Given the description of an element on the screen output the (x, y) to click on. 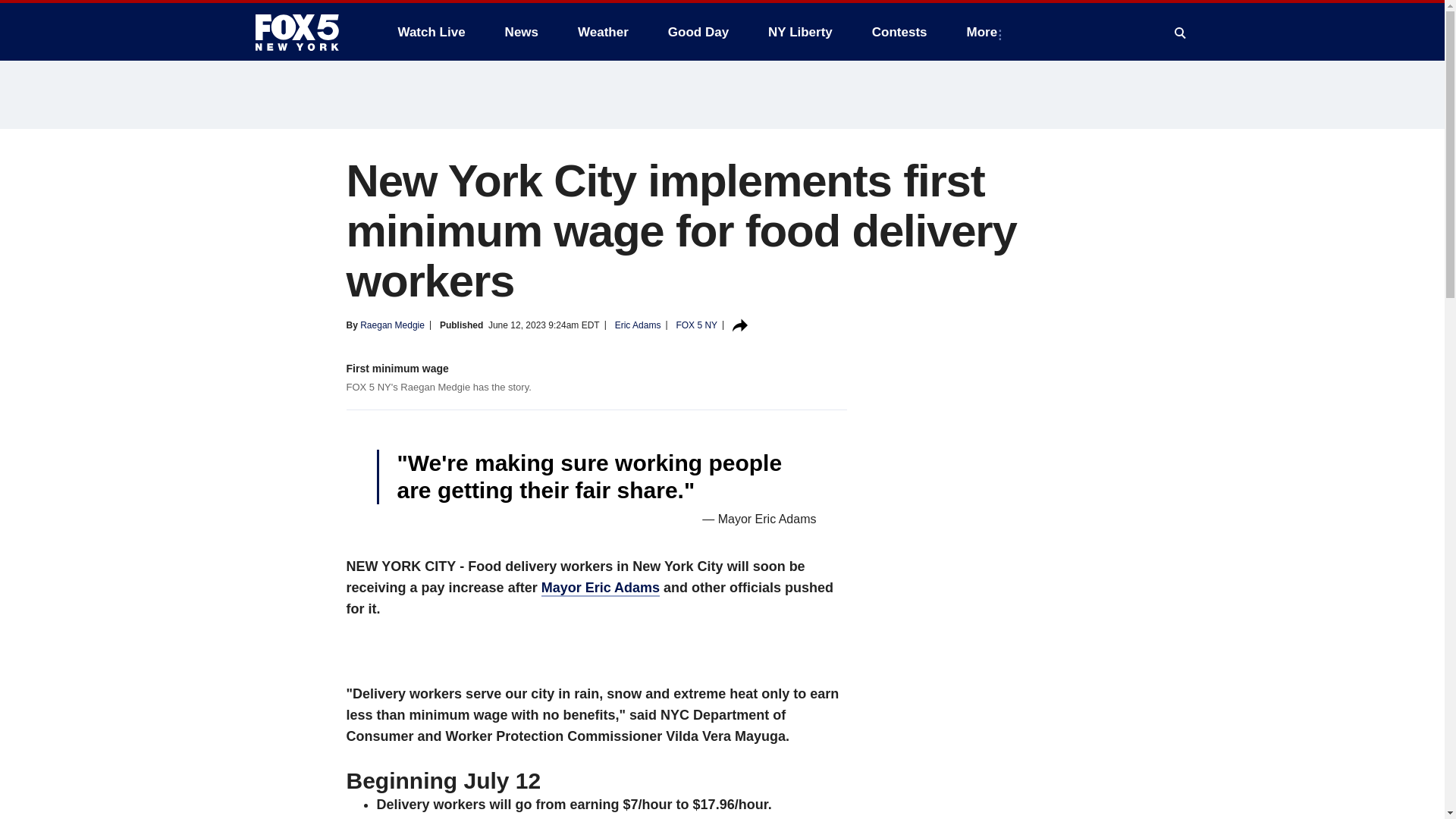
Weather (603, 32)
News (521, 32)
NY Liberty (799, 32)
Contests (899, 32)
Good Day (698, 32)
More (985, 32)
Watch Live (431, 32)
